Given the description of an element on the screen output the (x, y) to click on. 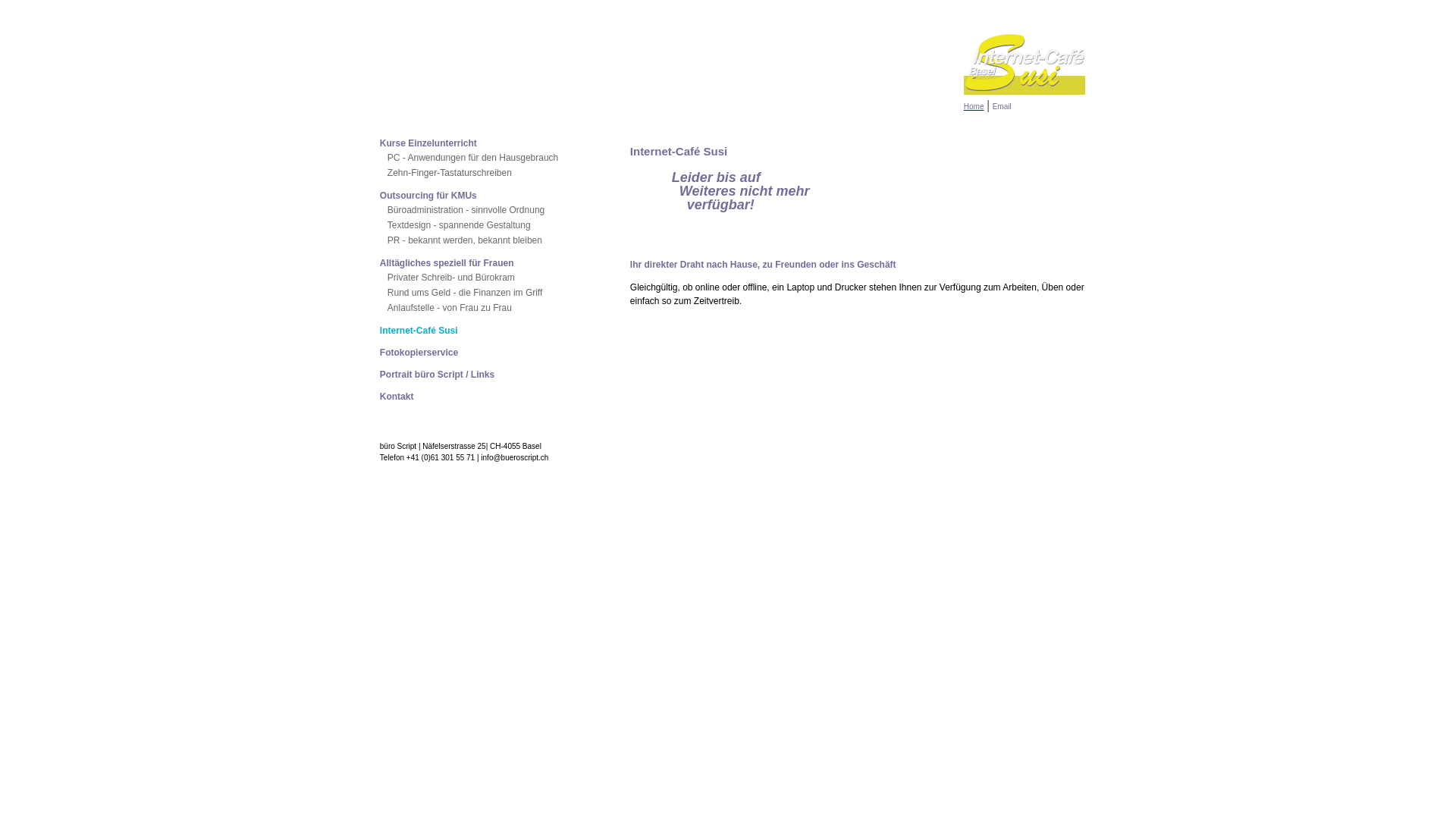
Anlaufstelle - von Frau zu Frau Element type: text (485, 307)
Email Element type: text (1001, 106)
Fotokopierservice Element type: text (485, 352)
info@bueroscript.ch Element type: text (514, 457)
Textdesign - spannende Gestaltung Element type: text (485, 225)
Zehn-Finger-Tastaturschreiben Element type: text (485, 172)
Kurse Einzelunterricht Element type: text (485, 143)
Rund ums Geld - die Finanzen im Griff Element type: text (485, 292)
PR - bekannt werden, bekannt bleiben Element type: text (485, 240)
Kontakt Element type: text (485, 396)
Home Element type: text (973, 105)
